Given the description of an element on the screen output the (x, y) to click on. 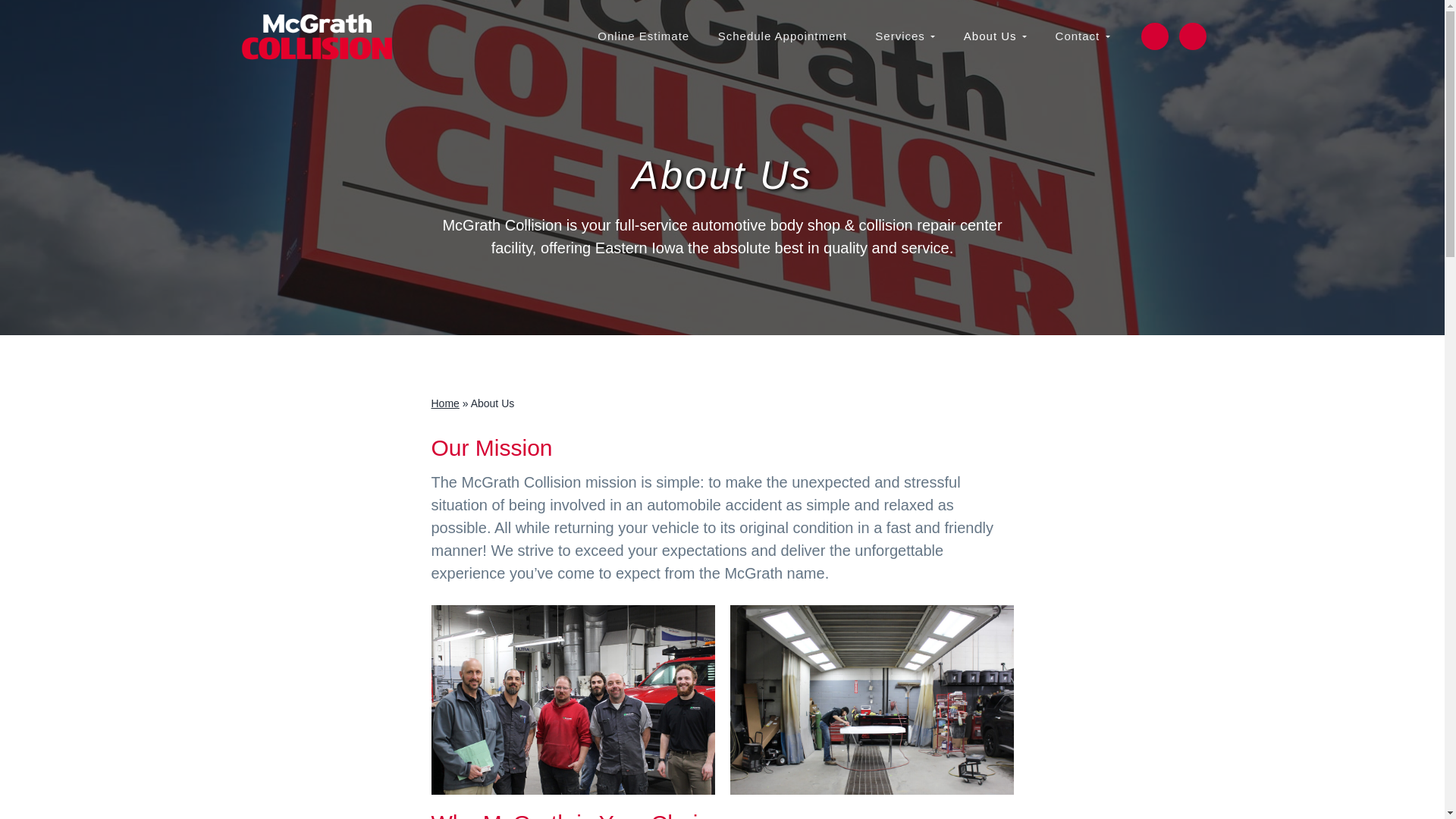
About Us (995, 35)
Schedule Appointment (782, 35)
Online Estimate (643, 35)
Contact (1082, 35)
Services (905, 35)
Home (444, 403)
McGrath Collision (286, 69)
